Given the description of an element on the screen output the (x, y) to click on. 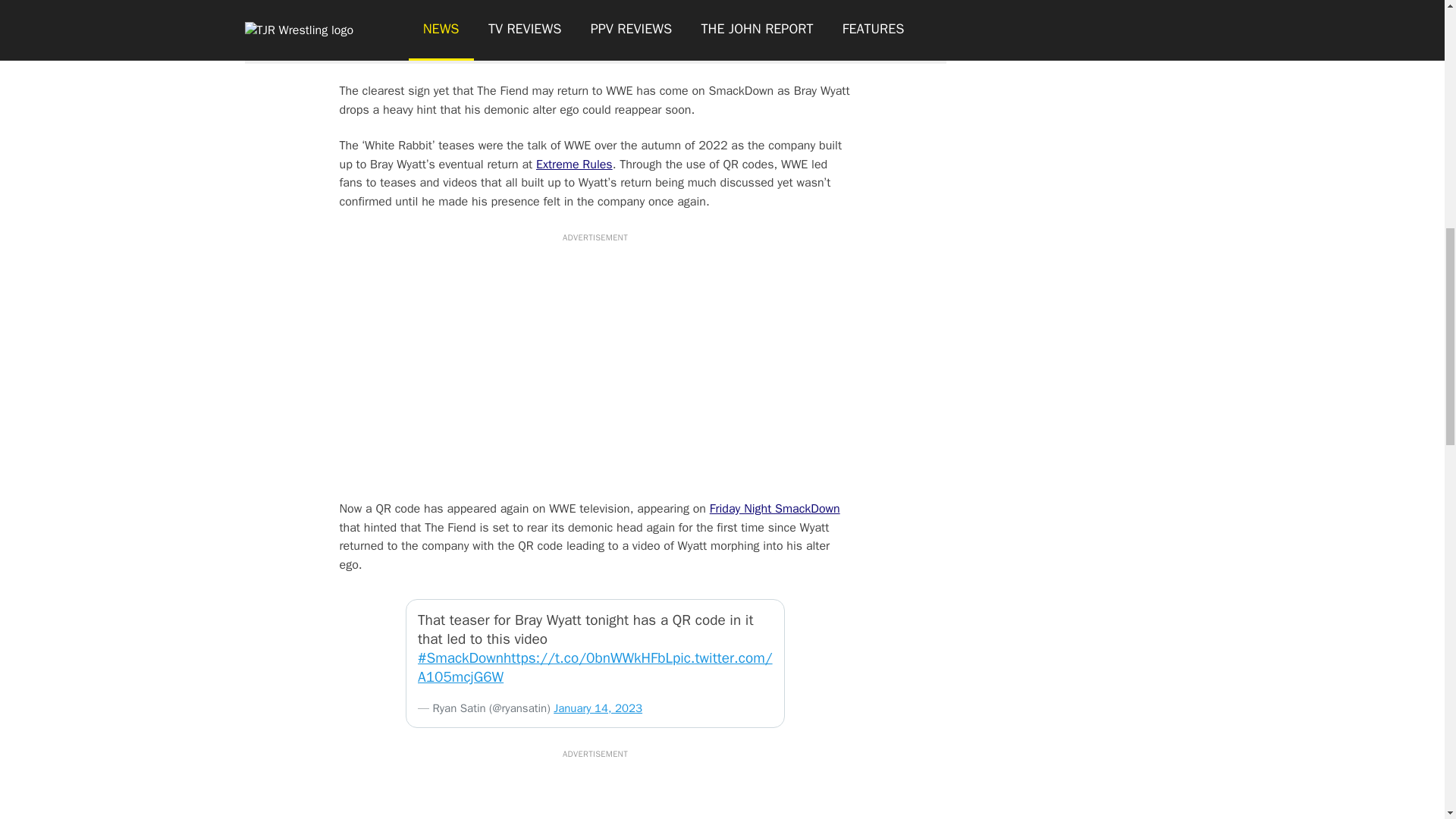
Extreme Rules (573, 164)
January 14, 2023 (597, 707)
Friday Night SmackDown (775, 508)
